Given the description of an element on the screen output the (x, y) to click on. 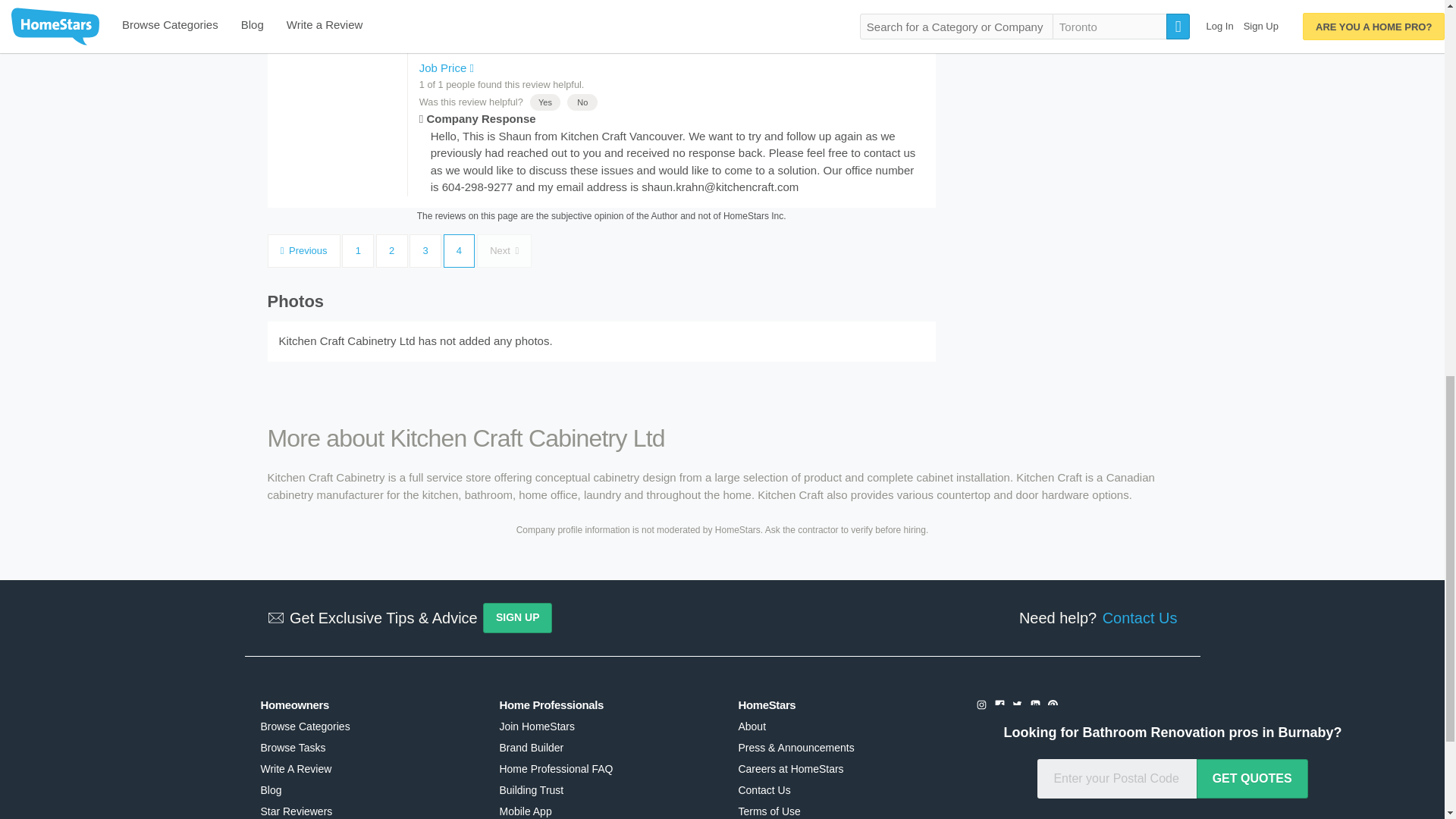
Yes (545, 102)
No (582, 102)
